Given the description of an element on the screen output the (x, y) to click on. 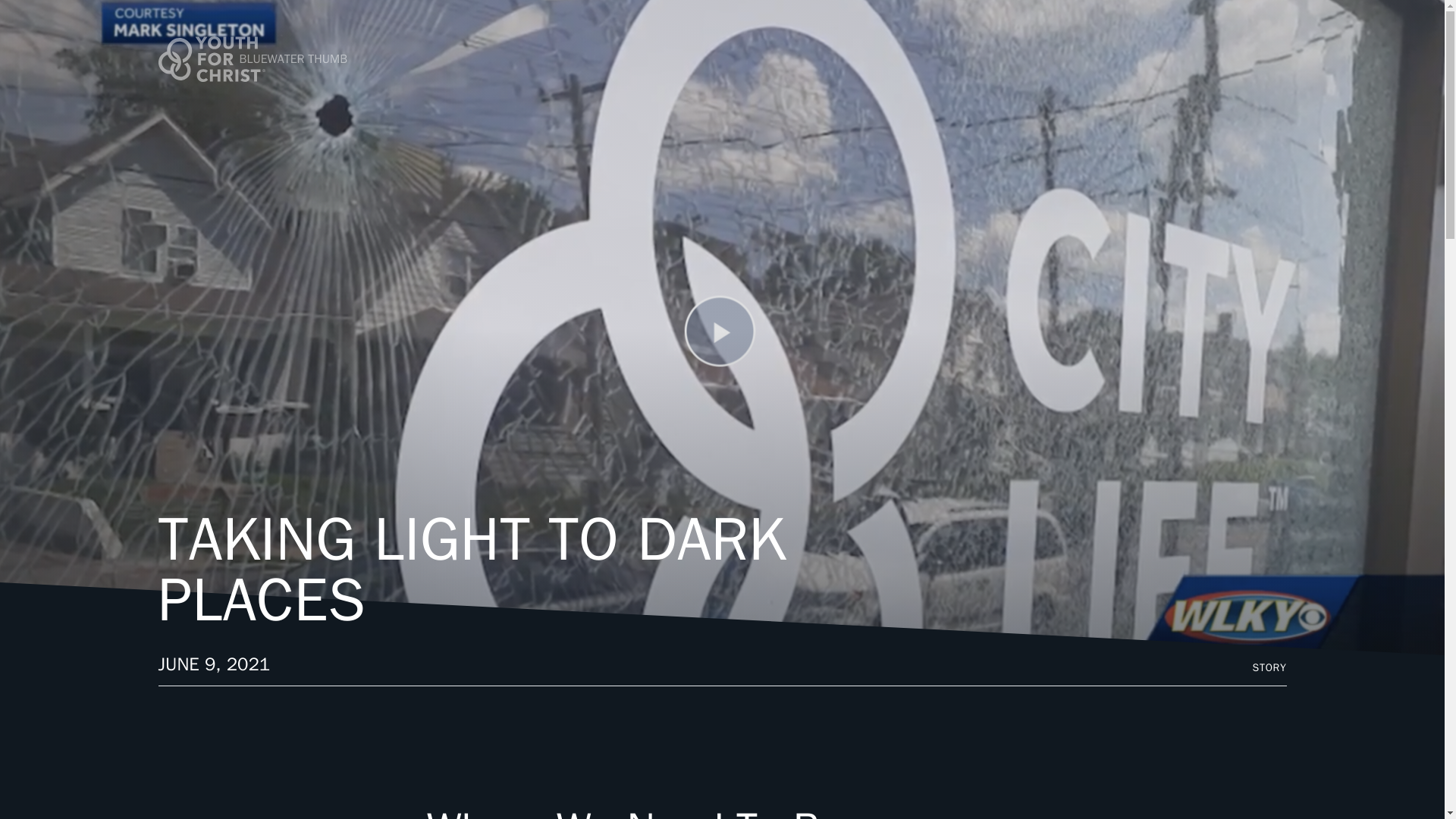
BLUEWATER THUMB (302, 58)
